Given the description of an element on the screen output the (x, y) to click on. 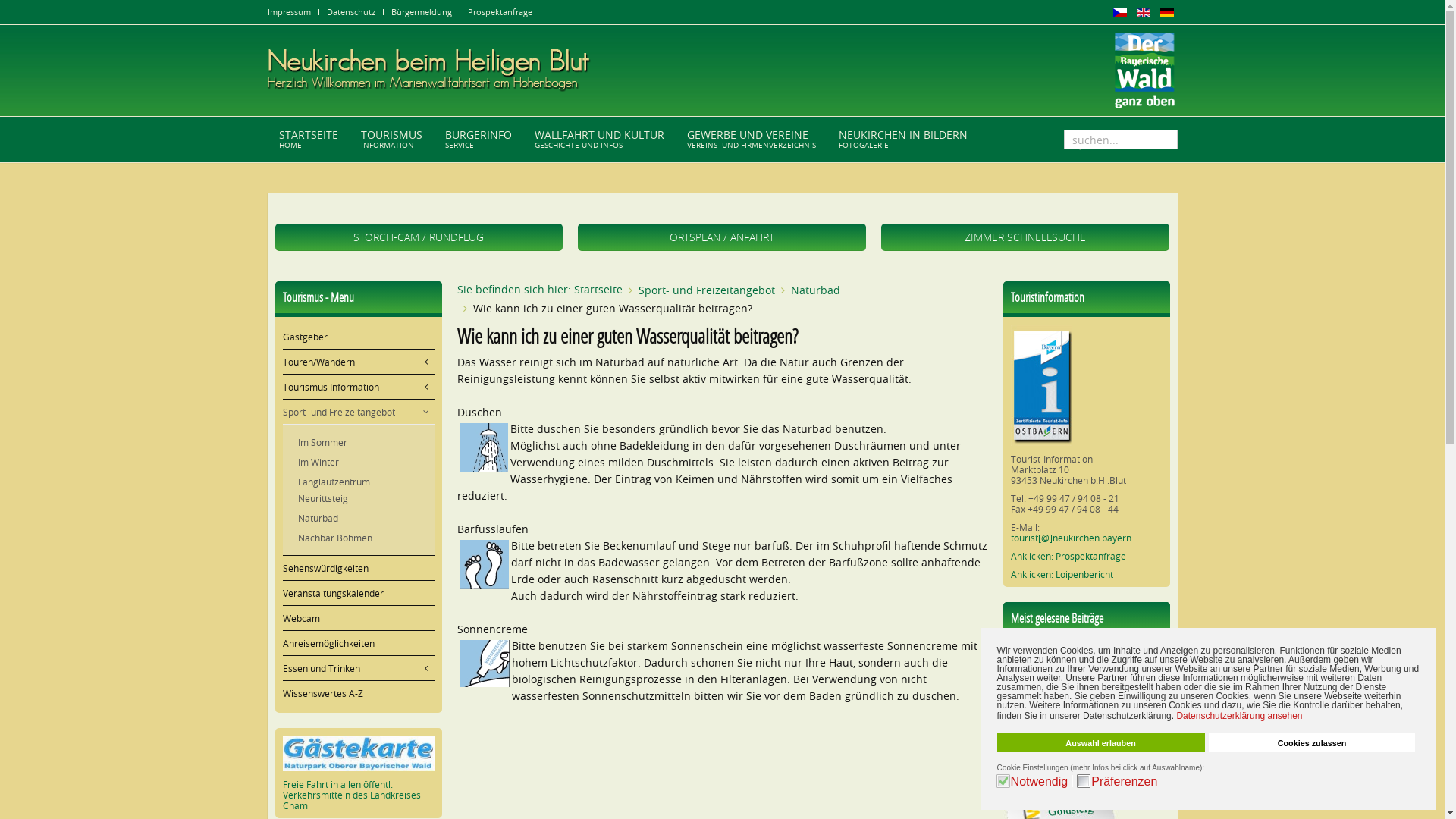
ORTSPLAN / ANFAHRT Element type: text (721, 237)
Touren/Wandern Element type: text (357, 360)
STARTSEITE
HOME Element type: text (307, 139)
Anklicken: Loipenbericht Element type: text (1061, 573)
Im Winter Element type: text (357, 461)
tourist[@]neukirchen.bayern Element type: text (1070, 537)
Anklicken: Prospektanfrage Element type: text (1067, 555)
Tourismus in Neukirchen Element type: text (1062, 683)
Symbol Barfuss Element type: hover (483, 564)
STORCH-CAM / RUNDFLUG Element type: text (418, 237)
English (UK) Element type: hover (1142, 12)
Cookies zulassen Element type: text (1311, 742)
TOURISMUS
INFORMATION Element type: text (390, 139)
Veranstaltungskalender Element type: text (357, 592)
Sport- und Freizeitangebot Element type: text (357, 411)
GEWERBE UND VEREINE
VEREINS- UND FIRMENVERZEICHNIS Element type: text (750, 139)
Wissenswertes A-Z Element type: text (357, 692)
Datenschutz Element type: text (350, 11)
Notwendig Element type: text (1041, 781)
Auswahl erlauben Element type: text (1100, 742)
Webcam Element type: text (357, 617)
Impressum Element type: text (288, 11)
Sport- und Freizeitangebot Element type: text (706, 290)
NEUKIRCHEN IN BILDERN
FOTOGALERIE Element type: text (902, 139)
Gastgeber Element type: text (357, 336)
Prospektanfrage Element type: text (499, 11)
Essen und Trinken Element type: text (357, 667)
Naturbad Element type: text (814, 290)
Sie befinden sich hier: Startseite Element type: text (538, 289)
Unsere Gastgeber Element type: text (1049, 704)
ZIMMER SCHNELLSUCHE Element type: text (1025, 237)
Naturbad Element type: text (357, 517)
Deutsch Element type: hover (1166, 12)
Czech (CZ) Element type: hover (1119, 12)
Tourismus Information Element type: text (357, 385)
ET 4 Pages Element type: text (1033, 745)
WALLFAHRT UND KULTUR
GESCHICHTE UND INFOS Element type: text (599, 139)
Langlaufzentrum Neurittsteig Element type: text (357, 489)
Im Sommer Element type: text (357, 441)
